Given the description of an element on the screen output the (x, y) to click on. 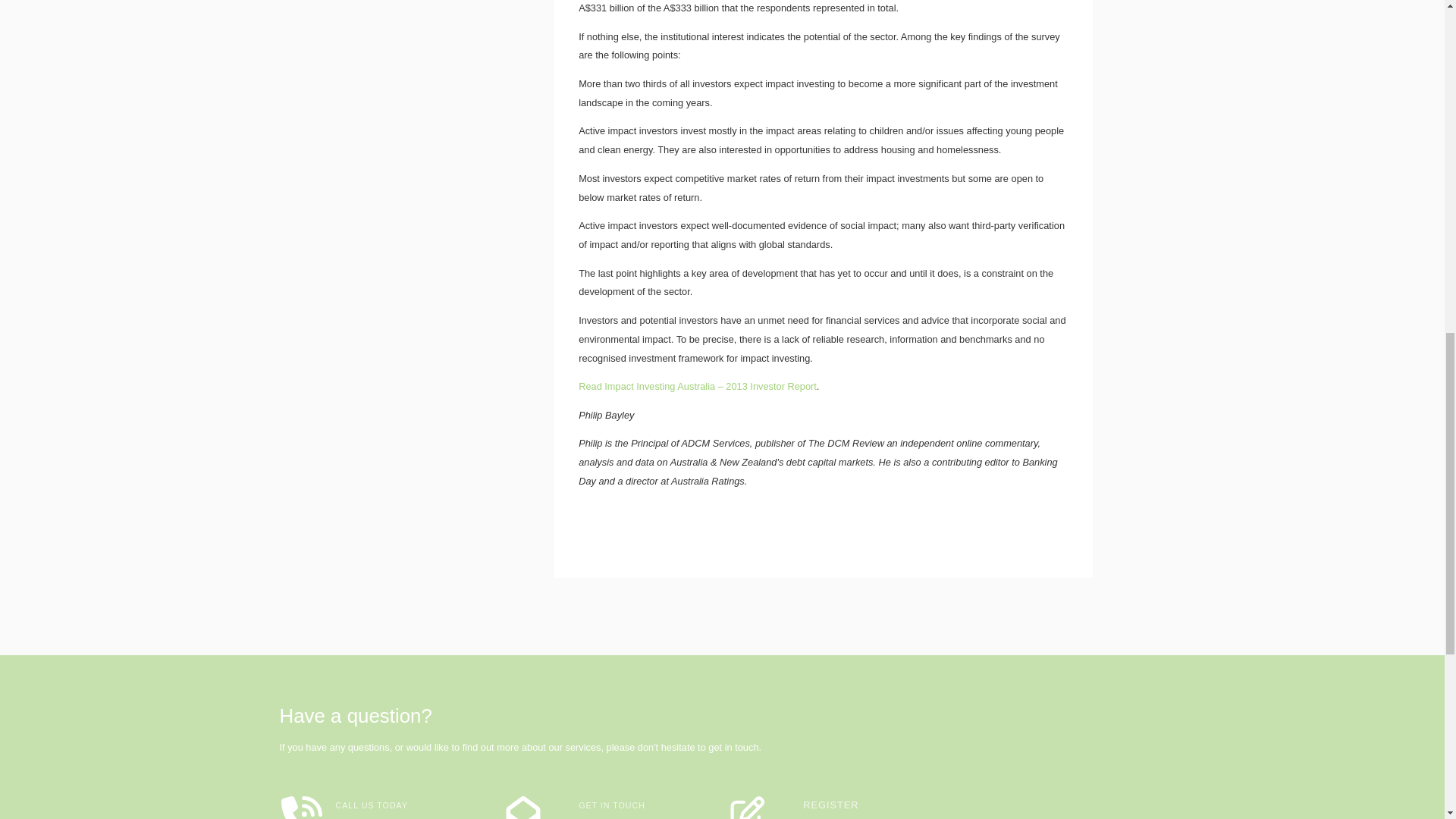
Impact Investing Australia 2016 Investor Report (697, 386)
Send us your enquiry (628, 818)
Register now (833, 818)
